Given the description of an element on the screen output the (x, y) to click on. 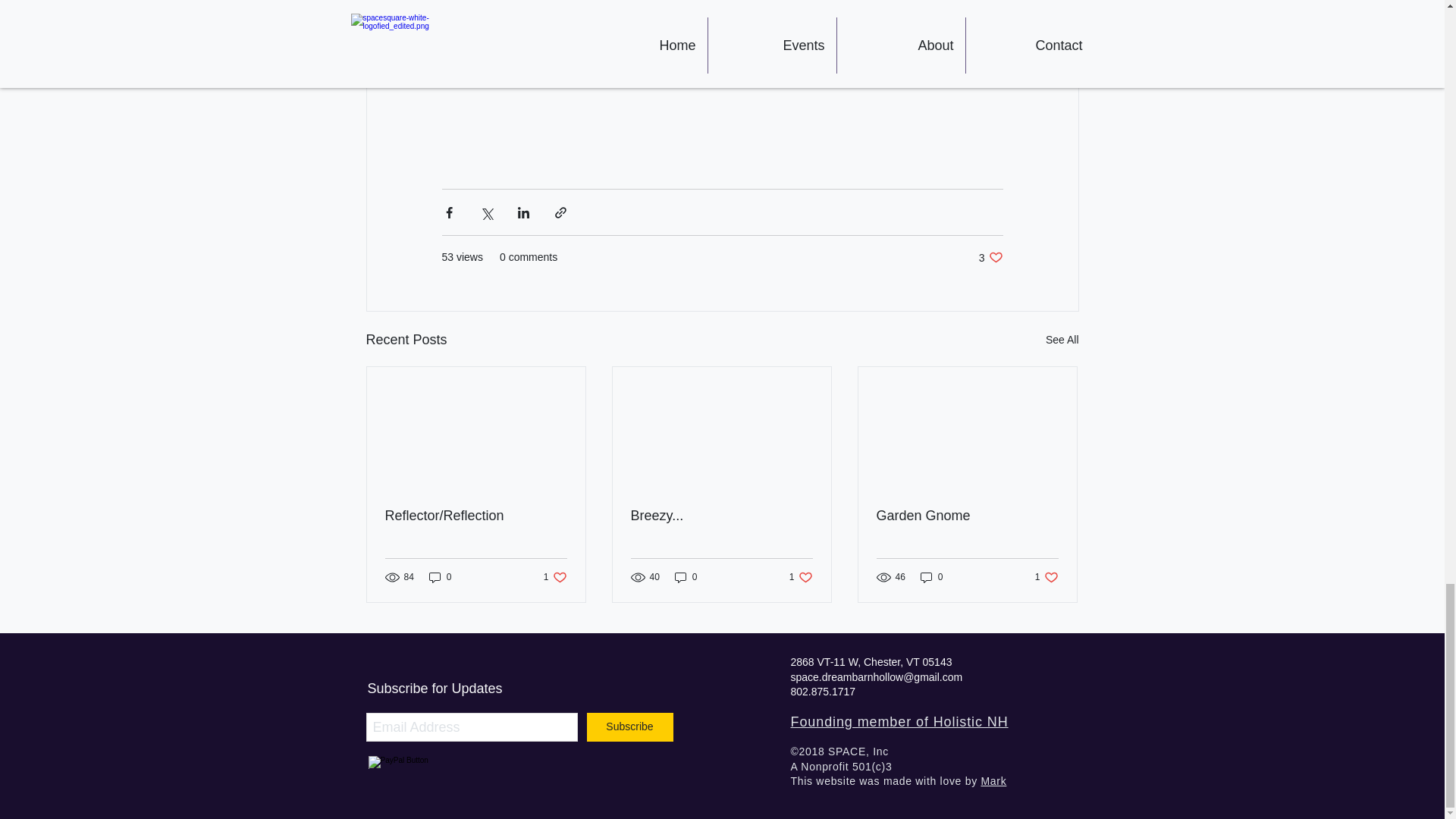
Breezy... (721, 515)
Mark (992, 780)
See All (555, 576)
Garden Gnome (1046, 576)
0 (800, 576)
Subscribe (990, 257)
